Given the description of an element on the screen output the (x, y) to click on. 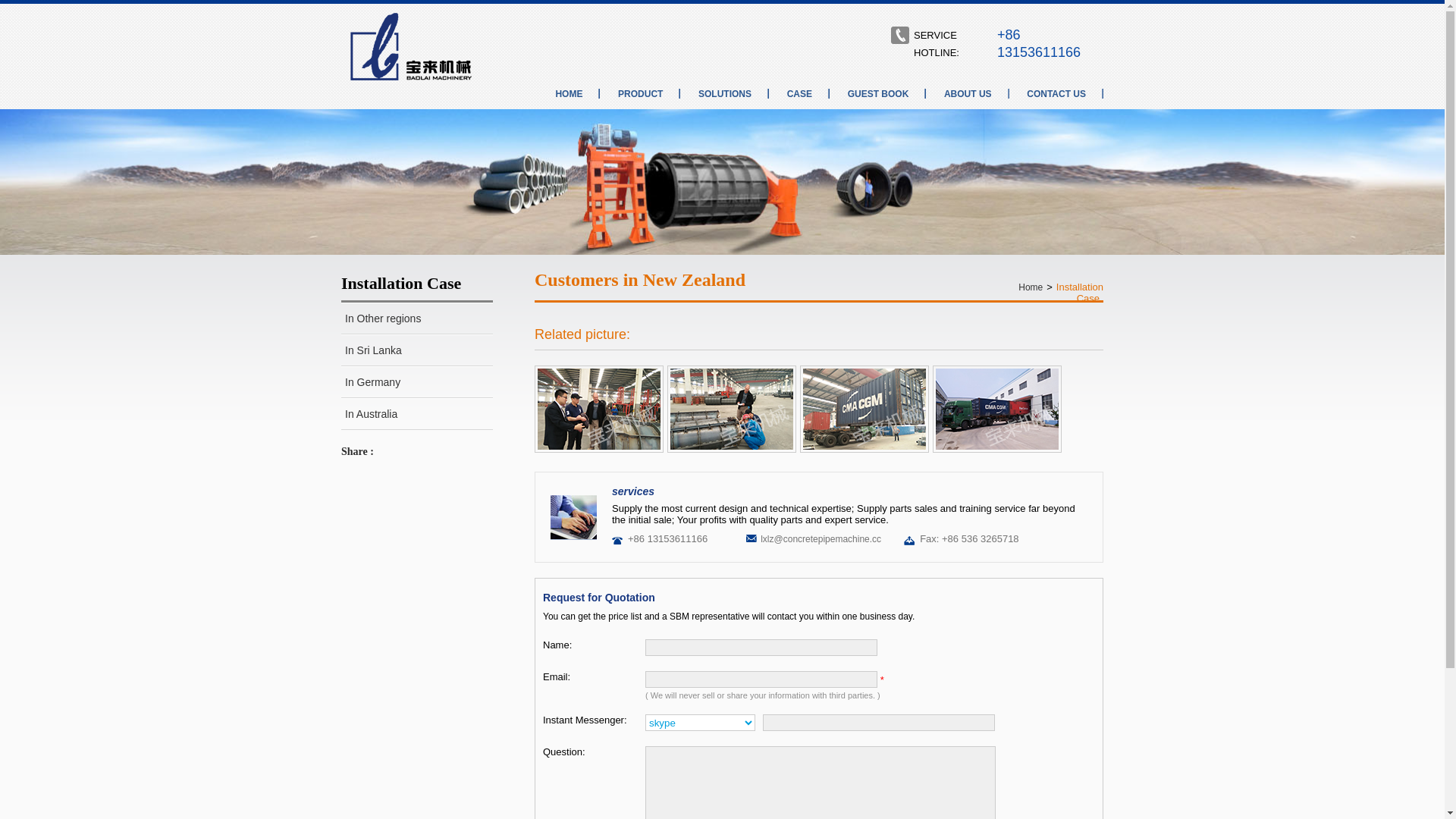
lxlz@concretepipemachine.cc Element type: text (820, 538)
GUEST BOOK Element type: text (878, 93)
ABOUT US Element type: text (967, 93)
SOLUTIONS Element type: text (724, 93)
CONTACT US Element type: text (1056, 93)
CASE Element type: text (799, 93)
PRODUCT Element type: text (639, 93)
In Other regions Element type: text (416, 318)
In Australia Element type: text (416, 413)
In Germany Element type: text (416, 382)
In Sri Lanka Element type: text (416, 350)
HOME Element type: text (568, 93)
Home Element type: text (1030, 287)
